Given the description of an element on the screen output the (x, y) to click on. 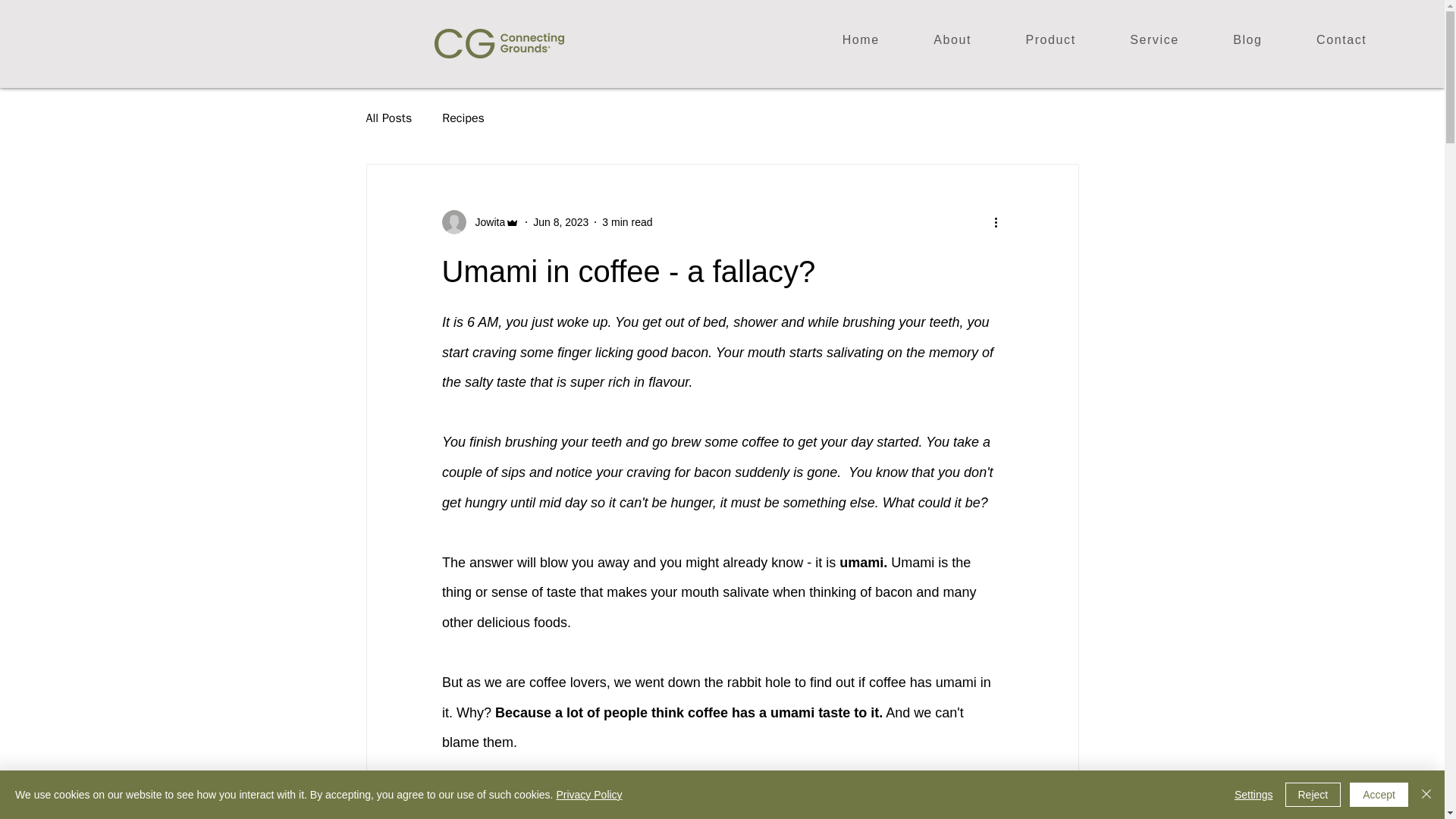
Service (1153, 40)
Contact (1341, 40)
Home (861, 40)
Recipes (463, 118)
Jowita (480, 221)
Jowita (485, 221)
green.png (498, 43)
All Posts (388, 118)
3 min read (627, 221)
Product (1050, 40)
